Given the description of an element on the screen output the (x, y) to click on. 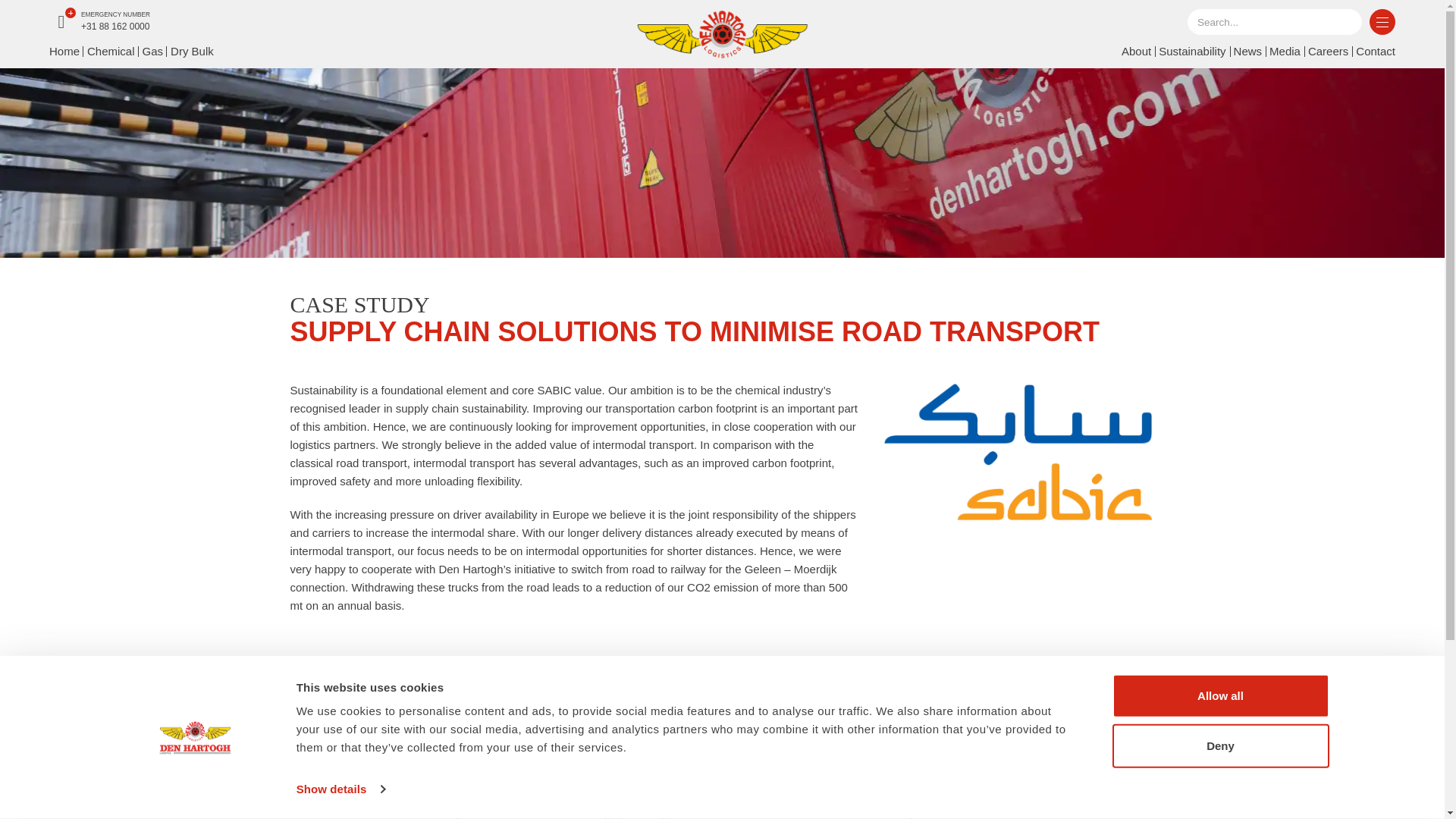
Deny (1219, 745)
Show details (340, 789)
Allow all (1219, 696)
